Given the description of an element on the screen output the (x, y) to click on. 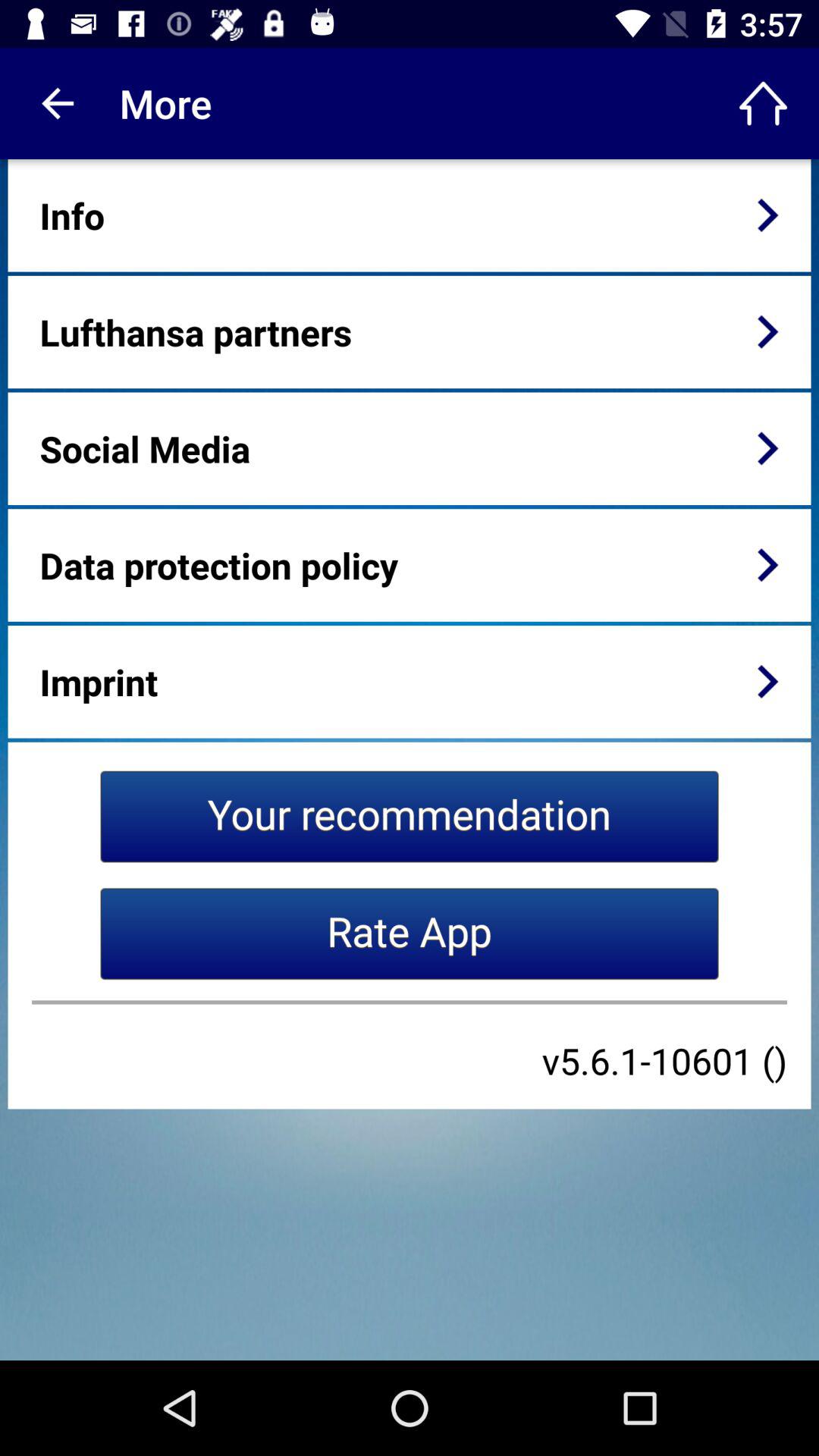
tap item above the rate app icon (409, 816)
